Given the description of an element on the screen output the (x, y) to click on. 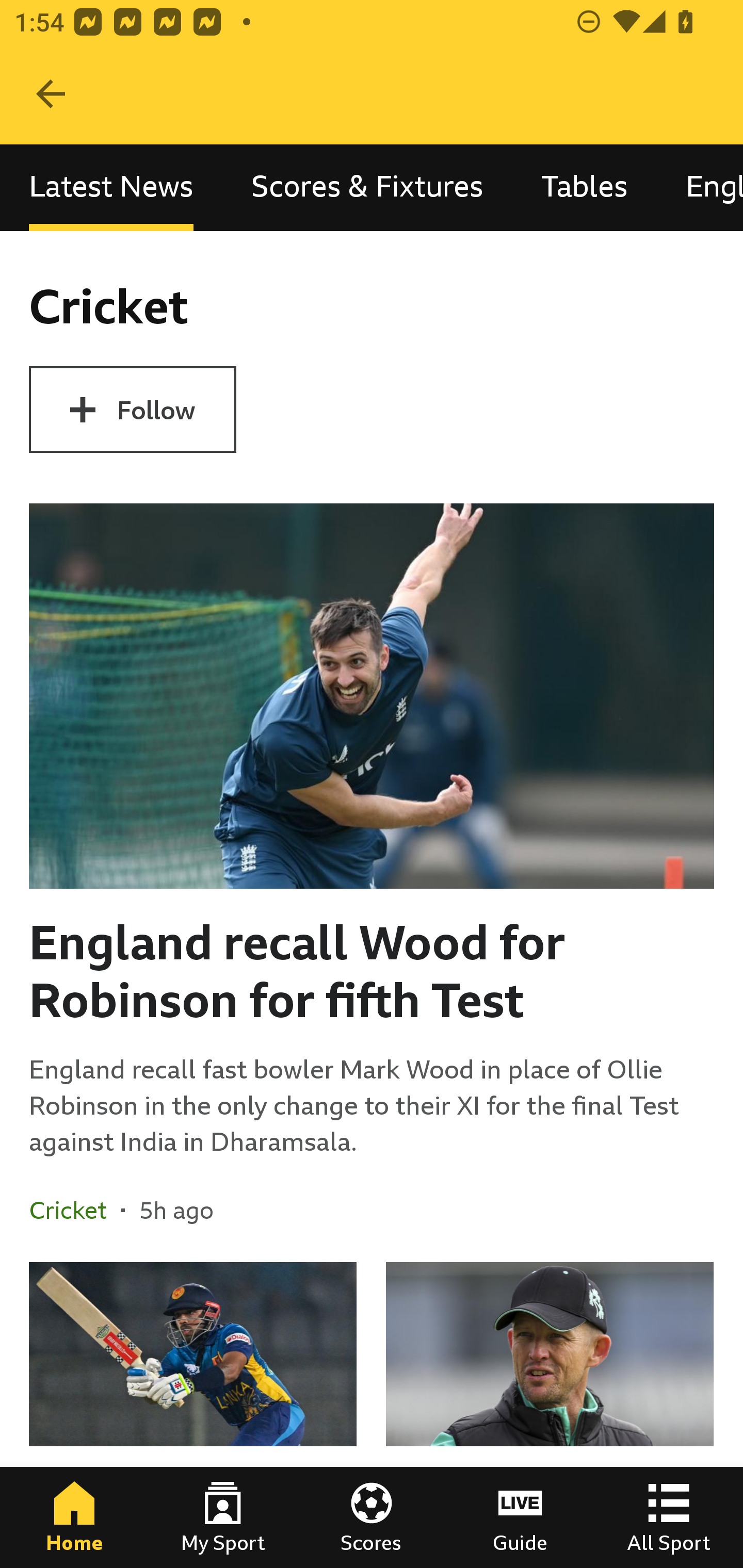
Navigate up (50, 93)
Latest News, selected Latest News (111, 187)
Scores & Fixtures (367, 187)
Tables (584, 187)
Follow Cricket Follow (132, 409)
Cricket In the section Cricket (74, 1209)
Bangladesh v Sri Lanka - second T20 scorecard (192, 1415)
Ireland face Afghanistan again after Test triumph (549, 1415)
My Sport (222, 1517)
Scores (371, 1517)
Guide (519, 1517)
All Sport (668, 1517)
